Given the description of an element on the screen output the (x, y) to click on. 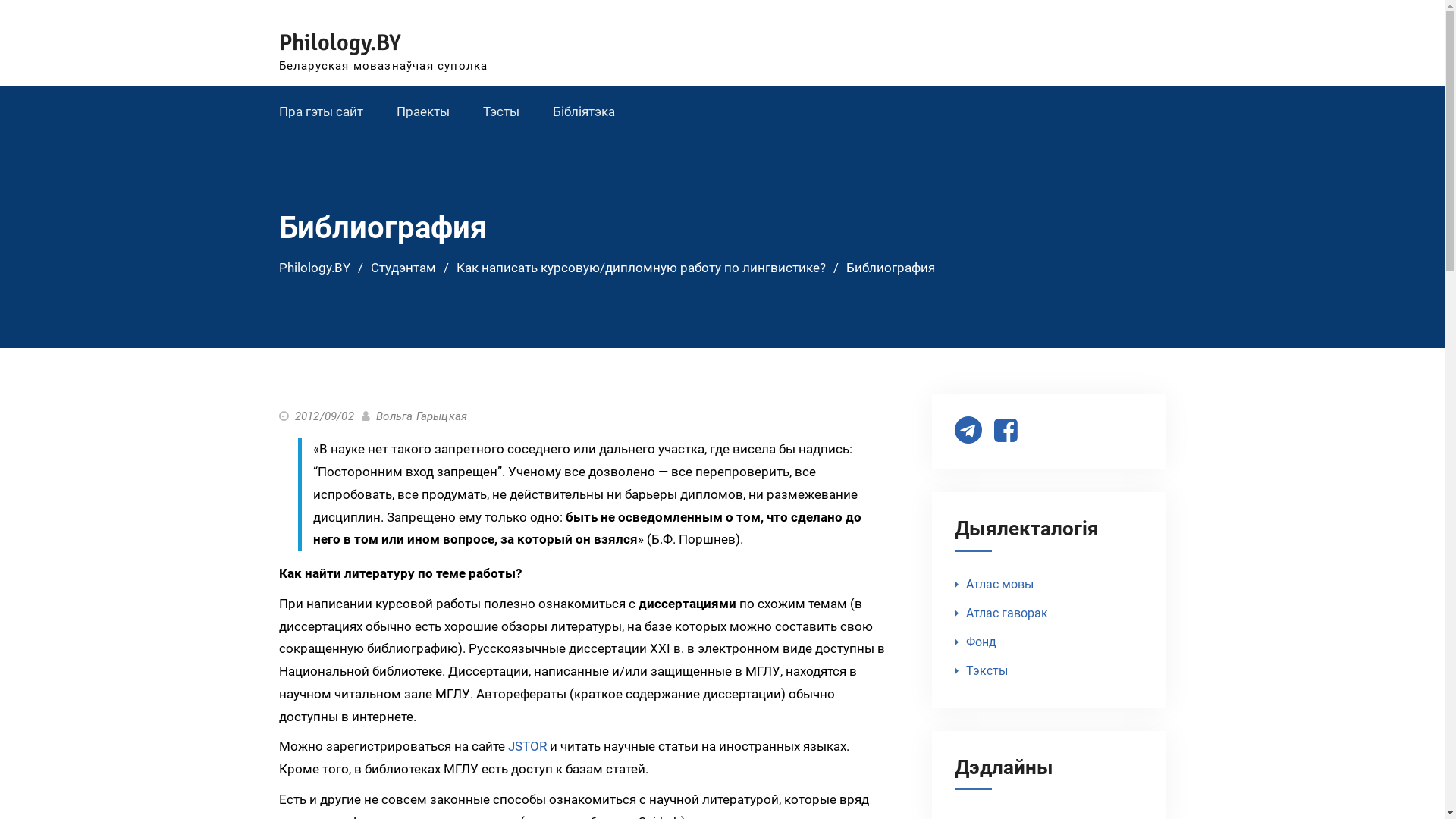
2012/09/02 Element type: text (324, 416)
Philology.BY Element type: text (314, 267)
JSTOR Element type: text (527, 745)
Philology.BY Element type: text (340, 42)
